Given the description of an element on the screen output the (x, y) to click on. 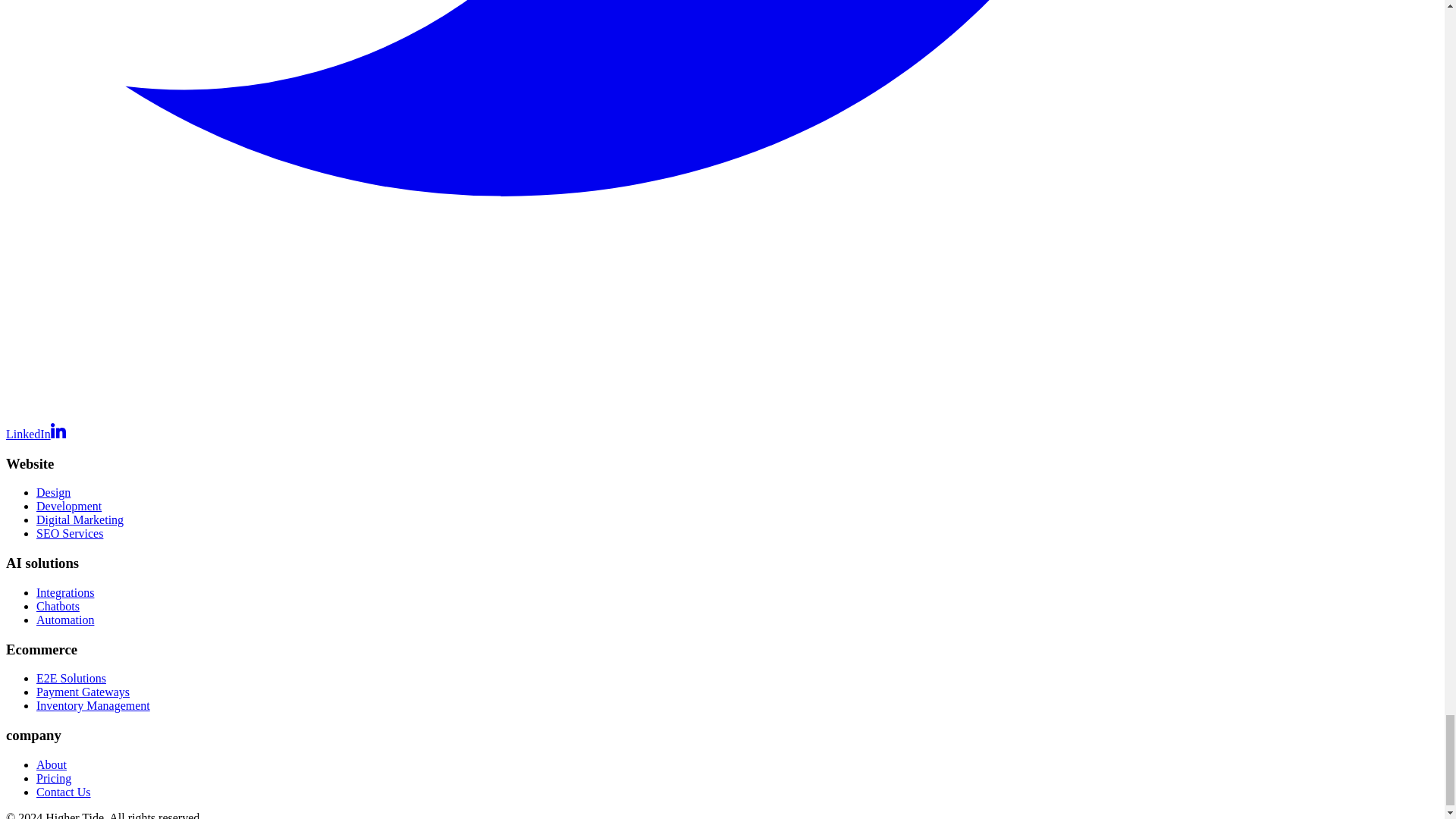
E2E Solutions (71, 677)
Automation (65, 619)
LinkedIn (35, 433)
Payment Gateways (82, 691)
Development (68, 505)
Integrations (65, 592)
Digital Marketing (79, 519)
About (51, 764)
SEO Services (69, 533)
Design (52, 492)
